Given the description of an element on the screen output the (x, y) to click on. 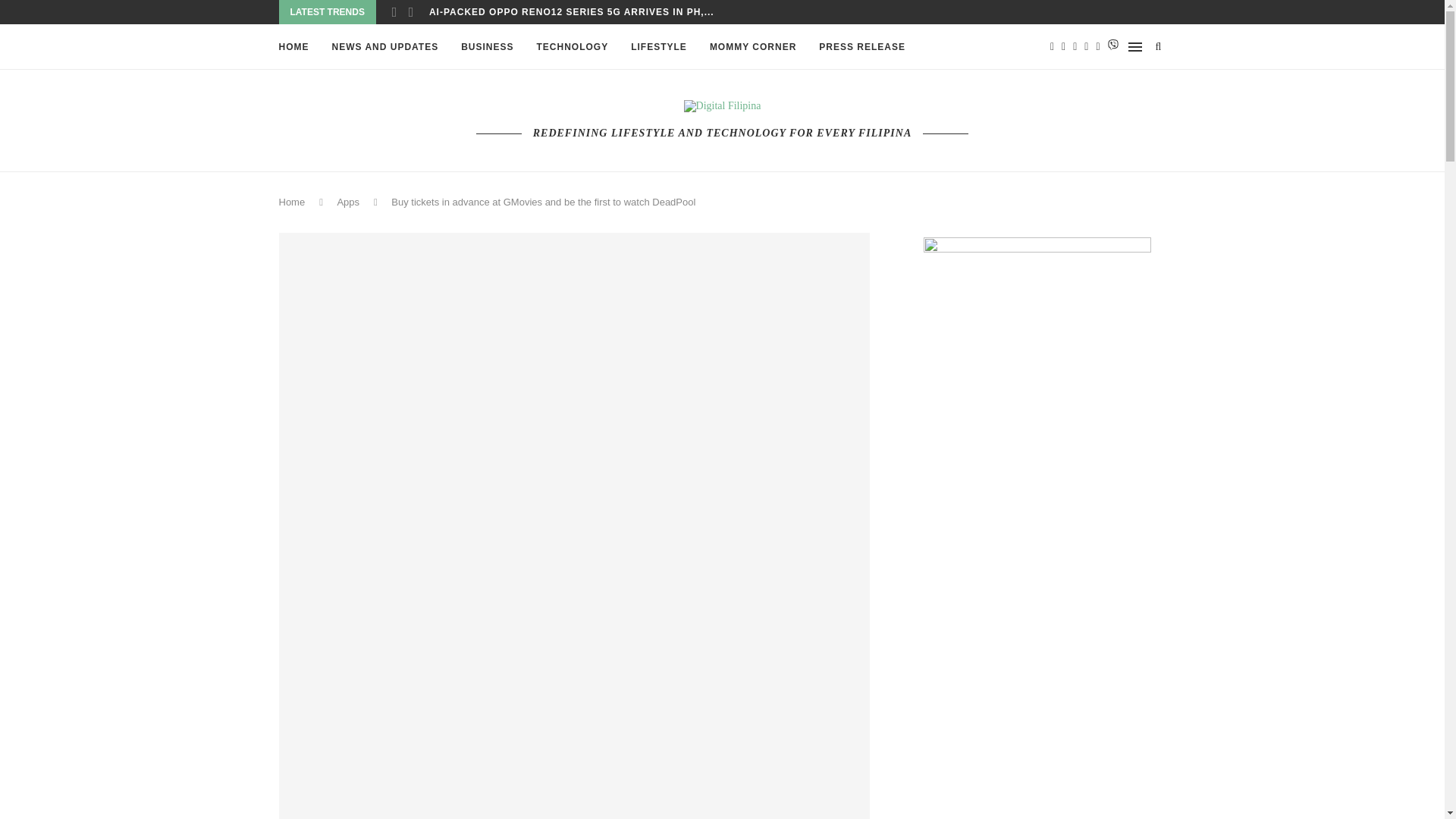
AI-PACKED OPPO RENO12 SERIES 5G ARRIVES IN PH,... (571, 12)
LIFESTYLE (658, 46)
Advertisement (1037, 791)
BUSINESS (487, 46)
HOME (293, 46)
TECHNOLOGY (572, 46)
NEWS AND UPDATES (385, 46)
